Given the description of an element on the screen output the (x, y) to click on. 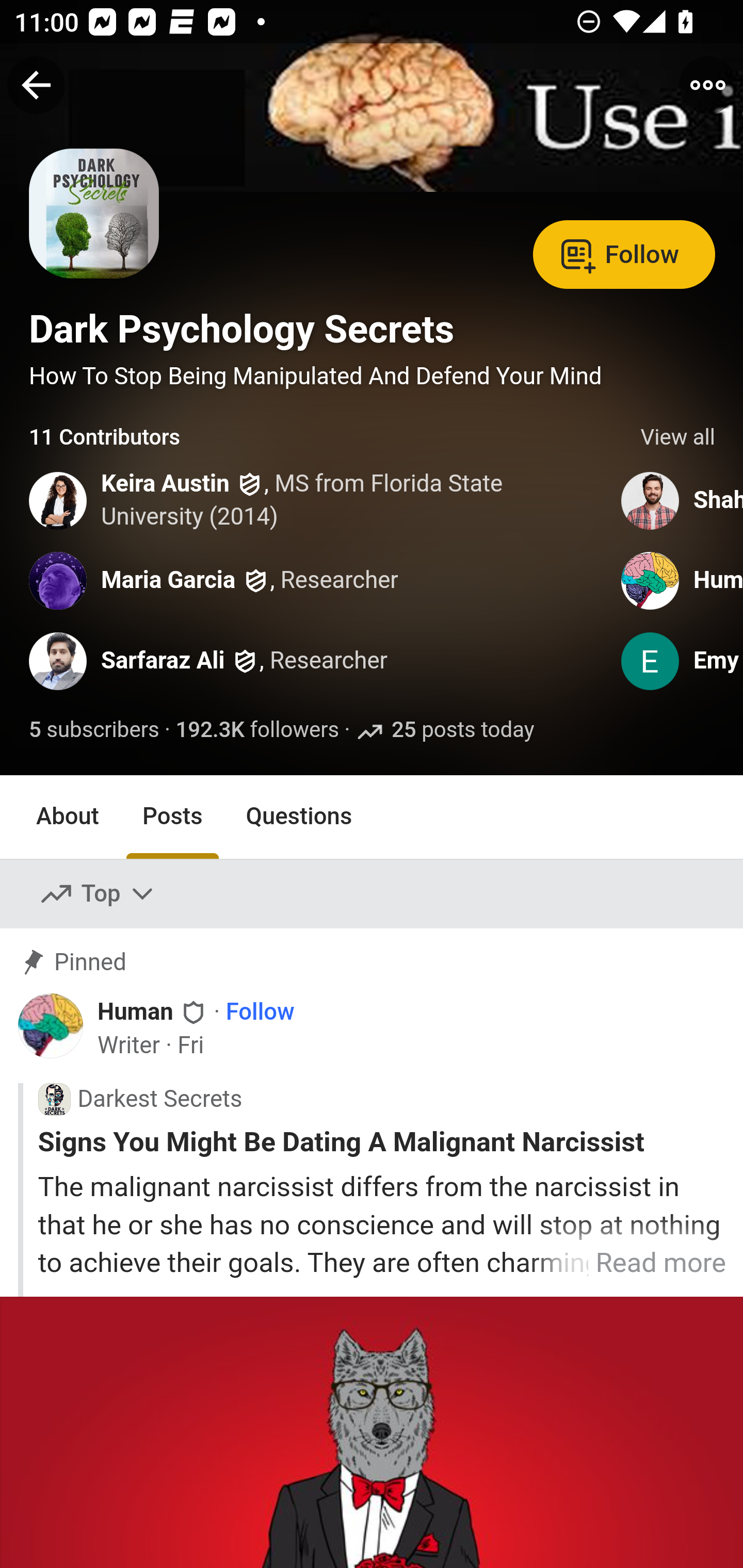
Follow (623, 252)
Dark Psychology Secrets (241, 329)
View all (677, 437)
Keira Austin (166, 484)
Profile photo for Keira Austin (58, 499)
Profile photo for Shahzad Sultan (650, 499)
Profile photo for Maria Garcia (58, 579)
Profile photo for Human (650, 579)
Maria Garcia (168, 579)
Profile photo for Sarfaraz Ali (58, 661)
Profile photo for Emy Watson (650, 661)
Sarfaraz Ali (163, 660)
About (68, 816)
Posts (171, 816)
Questions (299, 816)
Top (97, 894)
Profile photo for Human (50, 1025)
Human Human   (153, 1010)
Follow (259, 1011)
Icon for Darkest Secrets (54, 1099)
Signs You Might Be Dating A Malignant Narcissist (381, 1141)
